Given the description of an element on the screen output the (x, y) to click on. 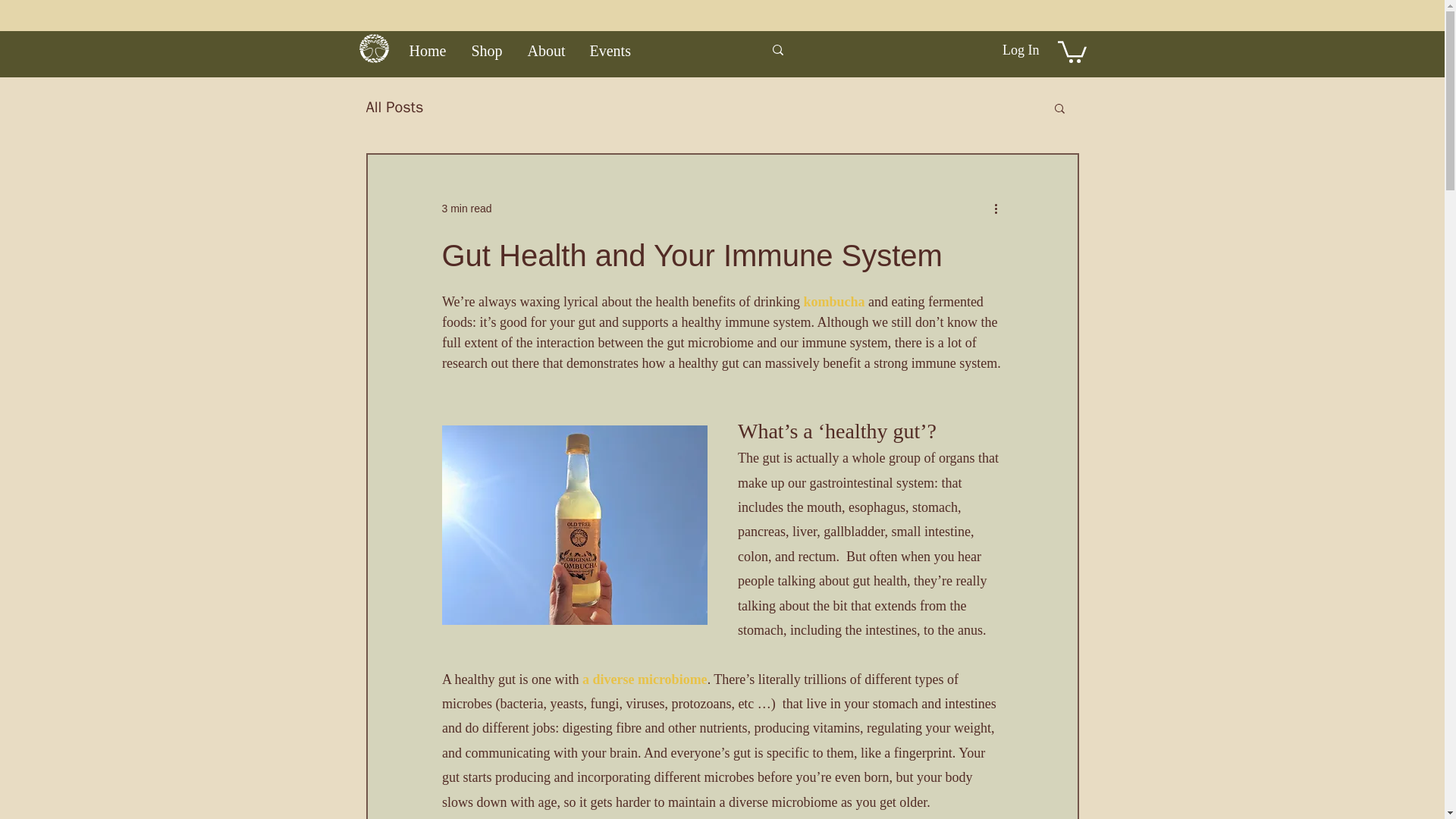
All Posts (394, 107)
About (546, 50)
Log In (1020, 50)
Order and shipping info (725, 15)
a diverse microbiome (643, 679)
Events (611, 50)
Home (428, 50)
Shop (487, 50)
kombucha (833, 301)
3 min read (466, 208)
